Given the description of an element on the screen output the (x, y) to click on. 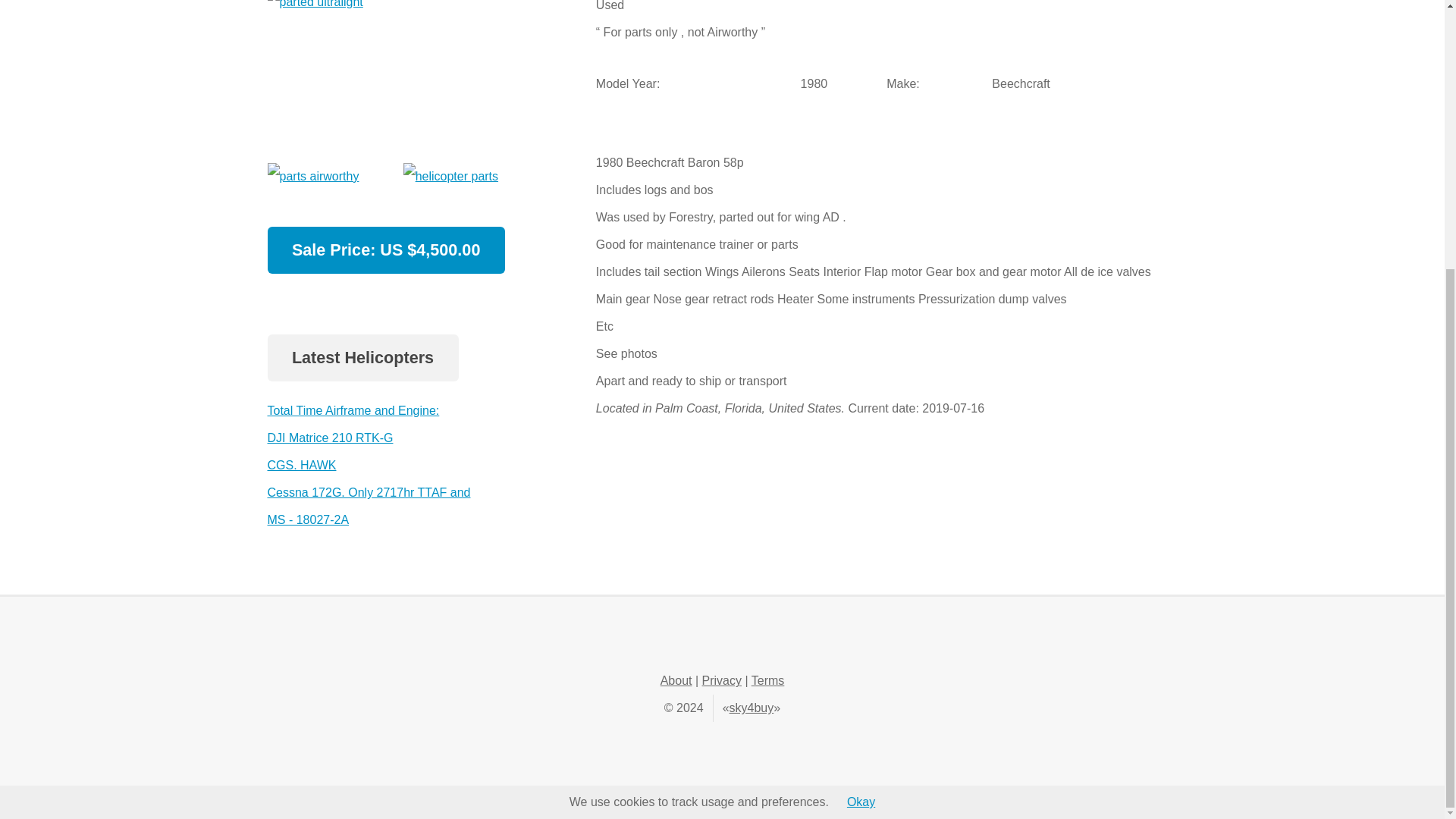
Latest Helicopters (362, 358)
MS - 18027-2A (307, 519)
Terms (767, 680)
sky4buy (751, 707)
About (677, 680)
Privacy (721, 680)
Okay (861, 408)
DJI Matrice 210 RTK-G (329, 437)
Total Time Airframe and Engine: (352, 410)
CGS. HAWK (301, 464)
